Given the description of an element on the screen output the (x, y) to click on. 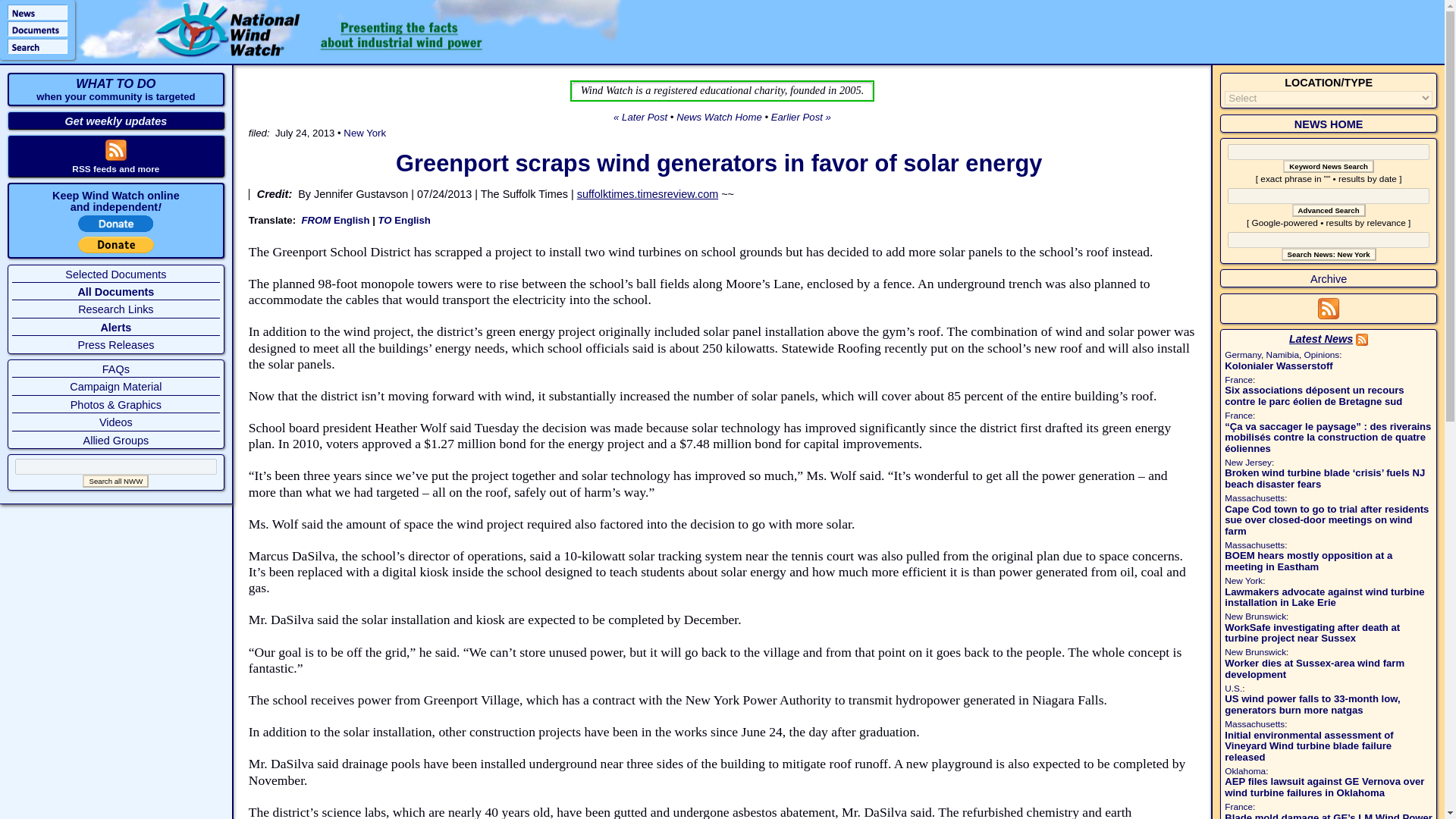
Advanced Search (1328, 210)
New York (1243, 580)
Keyword News Search (1328, 165)
Kolonialer Wasserstoff (1278, 365)
Oklahoma (1244, 770)
New Brunswick (1254, 652)
New Jersey (1247, 462)
U.S. (1232, 688)
Search all NWW (115, 481)
Worker dies at Sussex-area wind farm development (1314, 668)
Opinions (1321, 354)
